Given the description of an element on the screen output the (x, y) to click on. 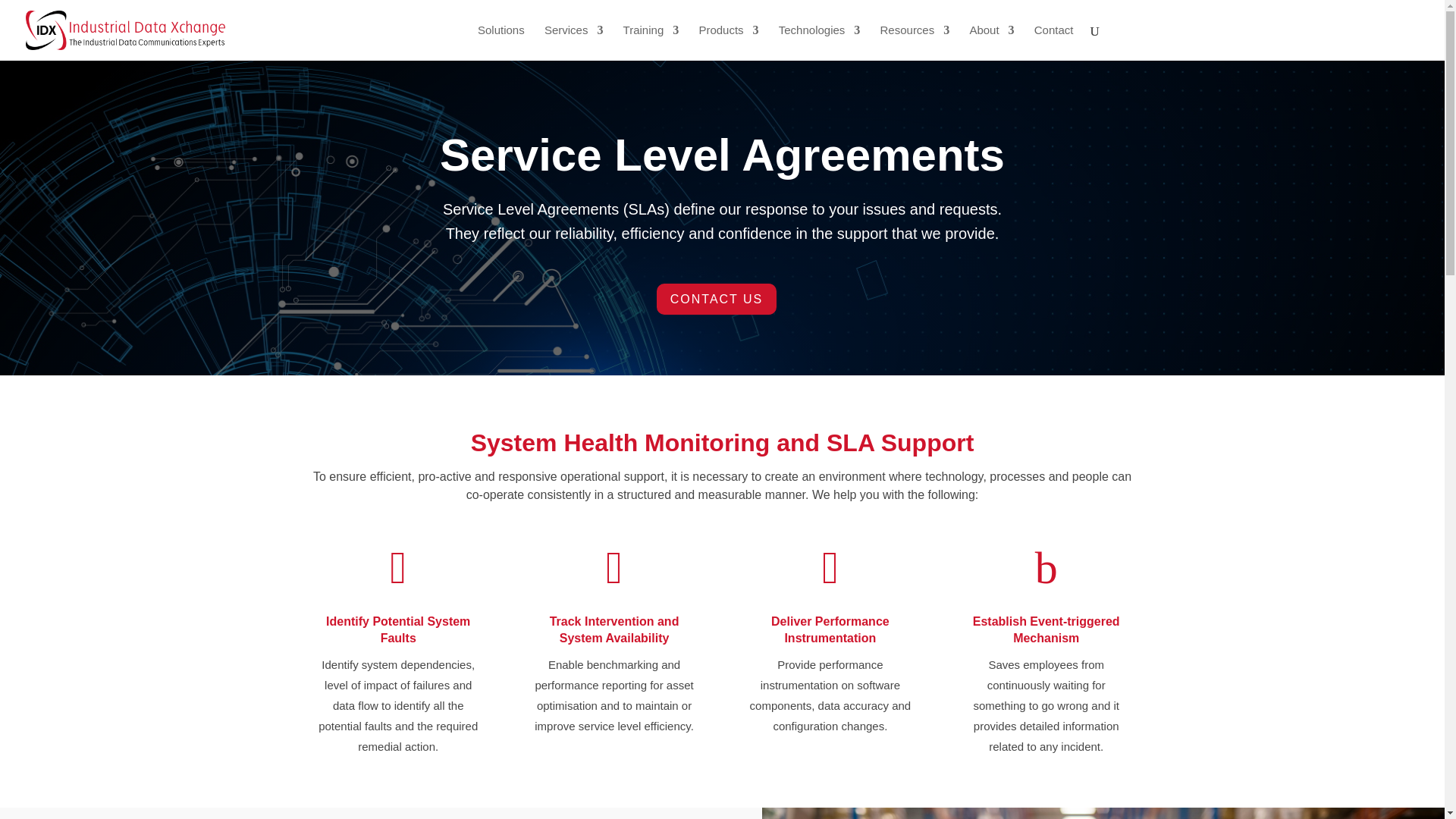
Solutions (500, 42)
Training (651, 42)
Services (574, 42)
Products (728, 42)
